Given the description of an element on the screen output the (x, y) to click on. 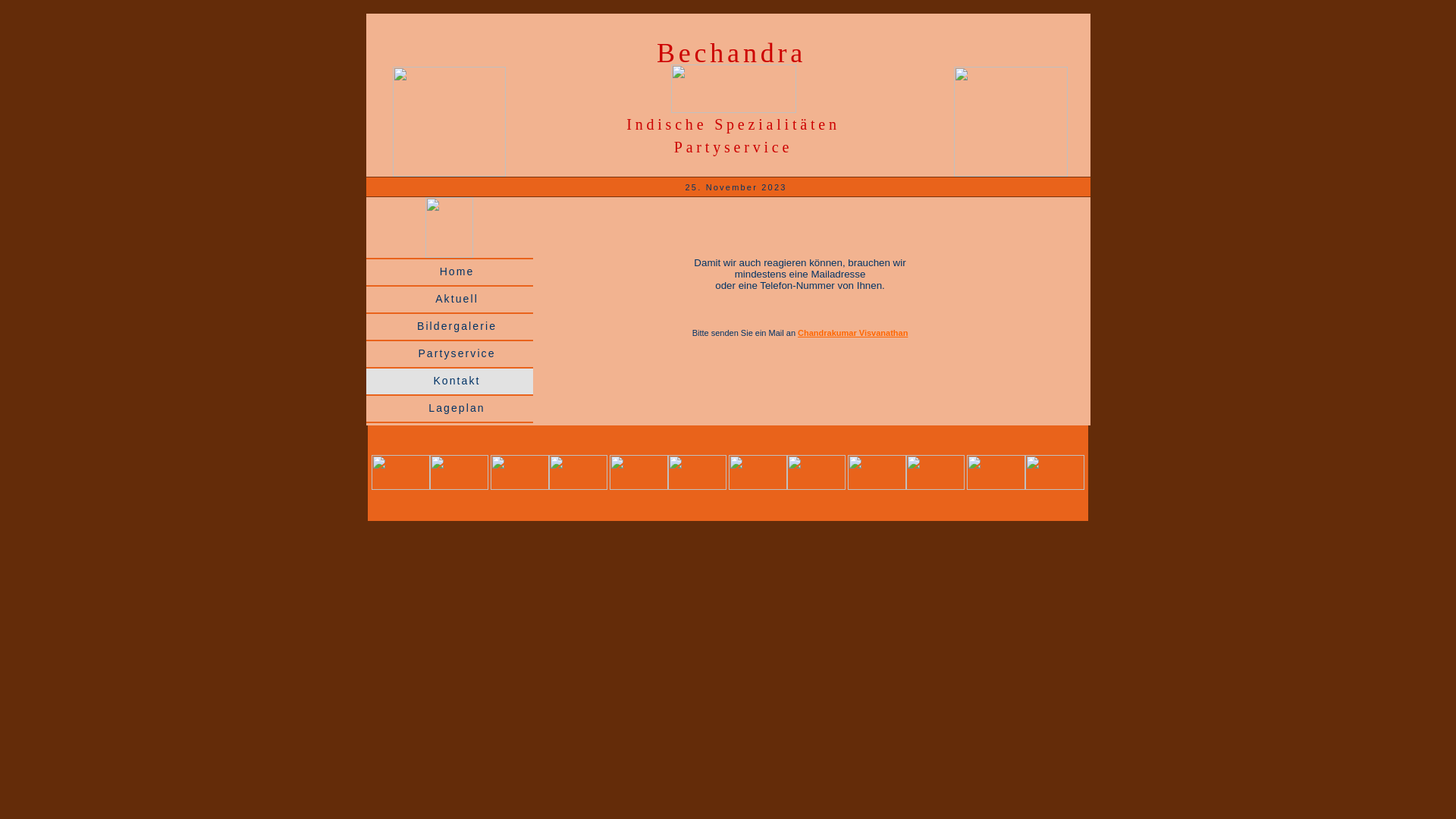
Aktuell Element type: text (448, 299)
Kontakt Element type: text (448, 381)
Lageplan Element type: text (448, 408)
Home Element type: text (448, 272)
Bildergalerie Element type: text (448, 326)
Partyservice Element type: text (448, 354)
Chandrakumar Visvanathan Element type: text (852, 332)
